Given the description of an element on the screen output the (x, y) to click on. 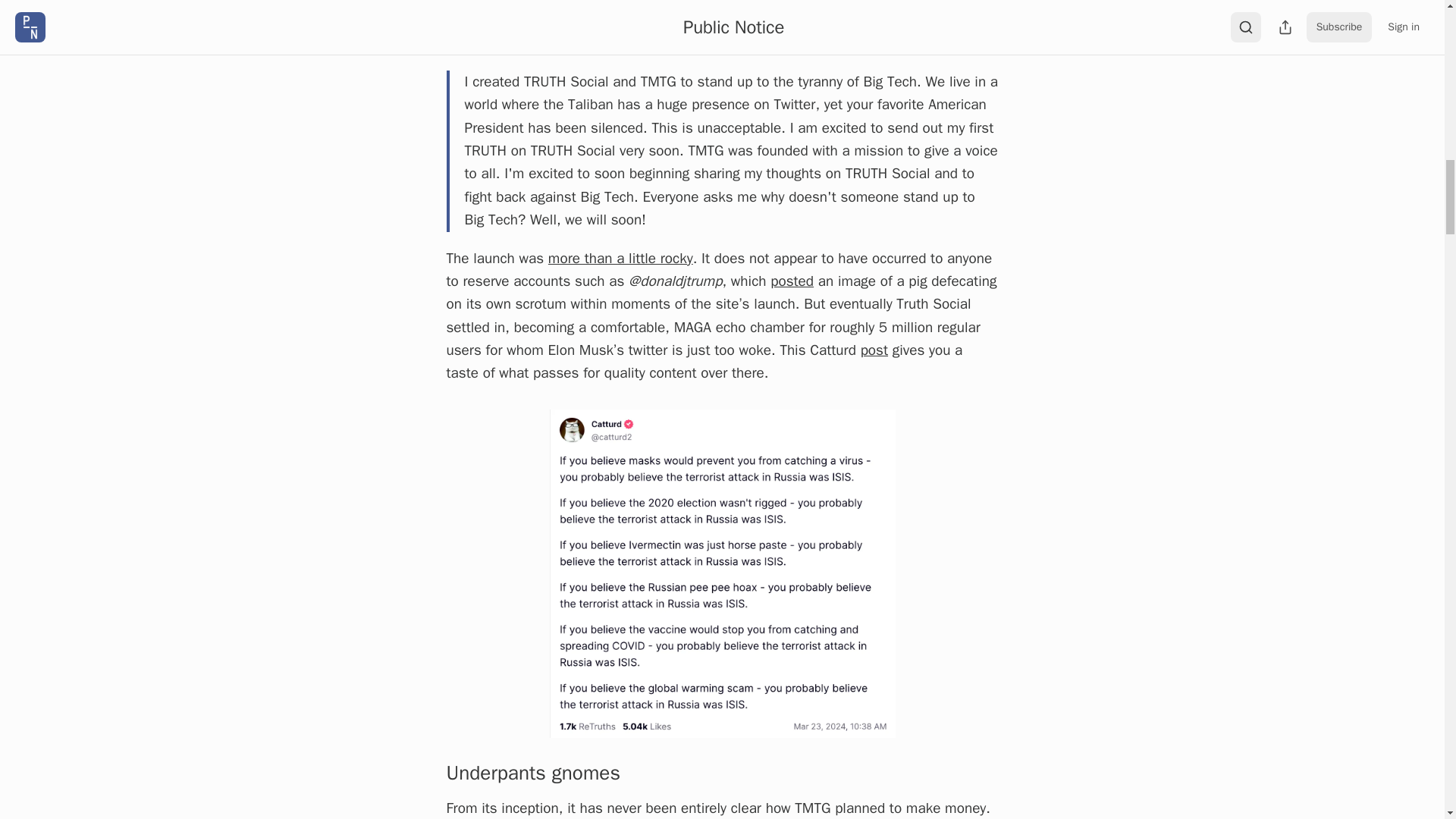
more than a little rocky (620, 258)
posted (791, 280)
post (874, 350)
flogged (843, 3)
